Given the description of an element on the screen output the (x, y) to click on. 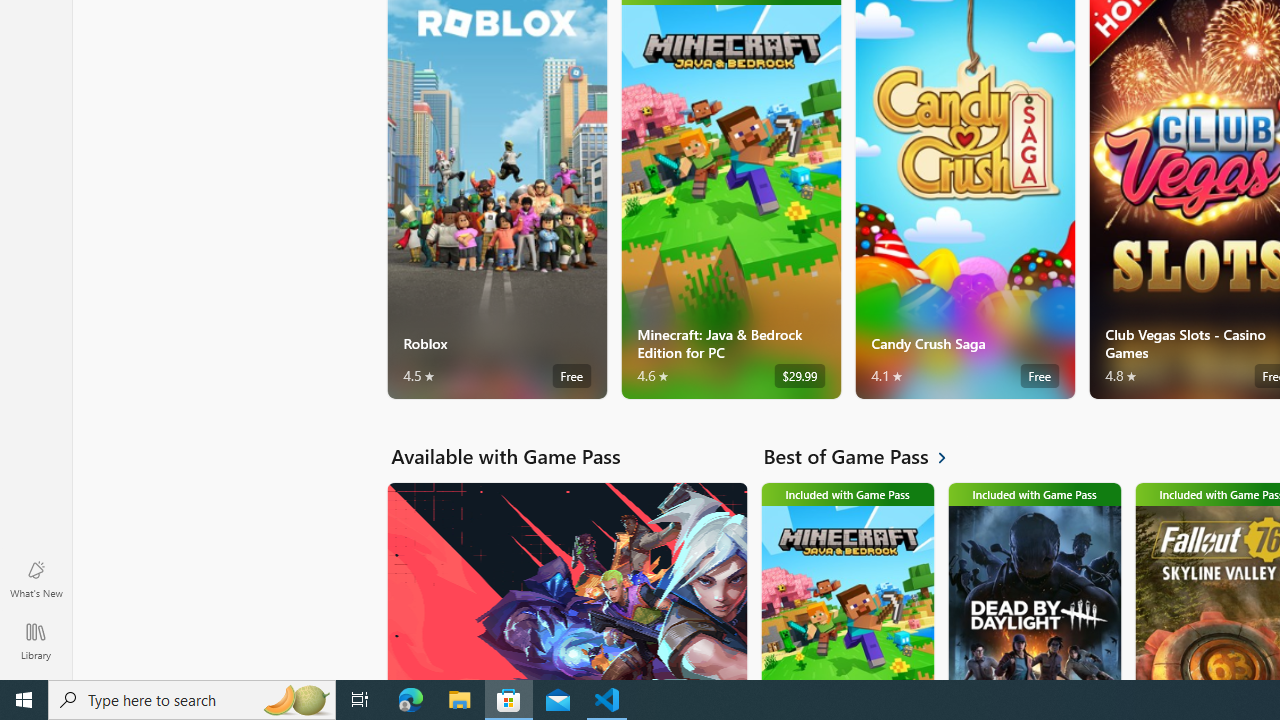
Available with Game Pass. VALORANT (566, 580)
See all  Best of Game Pass (866, 455)
